Given the description of an element on the screen output the (x, y) to click on. 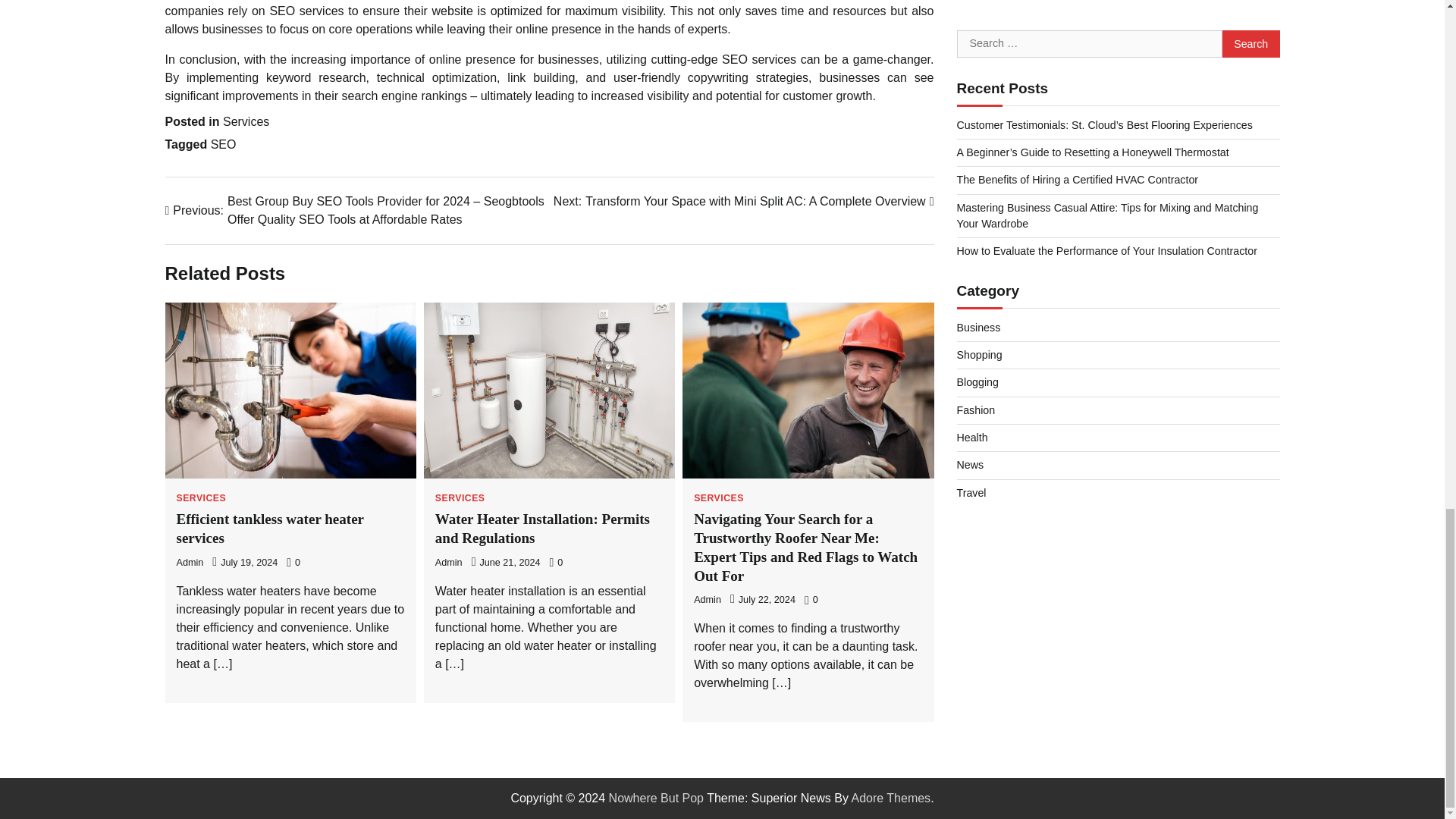
SEO (223, 144)
Water Heater Installation: Permits and Regulations (542, 528)
SERVICES (459, 497)
SERVICES (200, 497)
SERVICES (719, 497)
Services (245, 121)
Admin (189, 562)
Admin (449, 562)
